Given the description of an element on the screen output the (x, y) to click on. 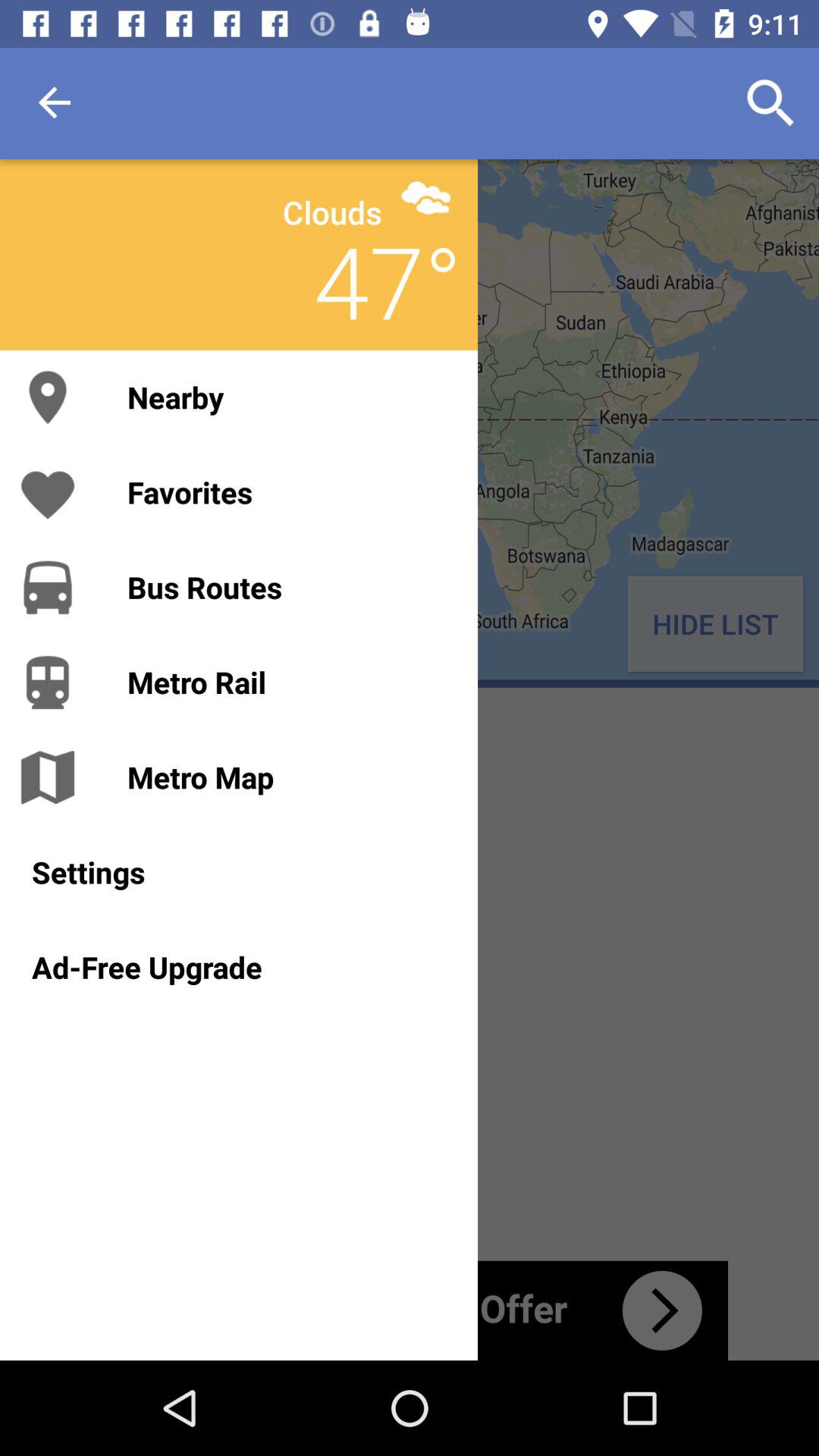
open advertisement (409, 1310)
